Given the description of an element on the screen output the (x, y) to click on. 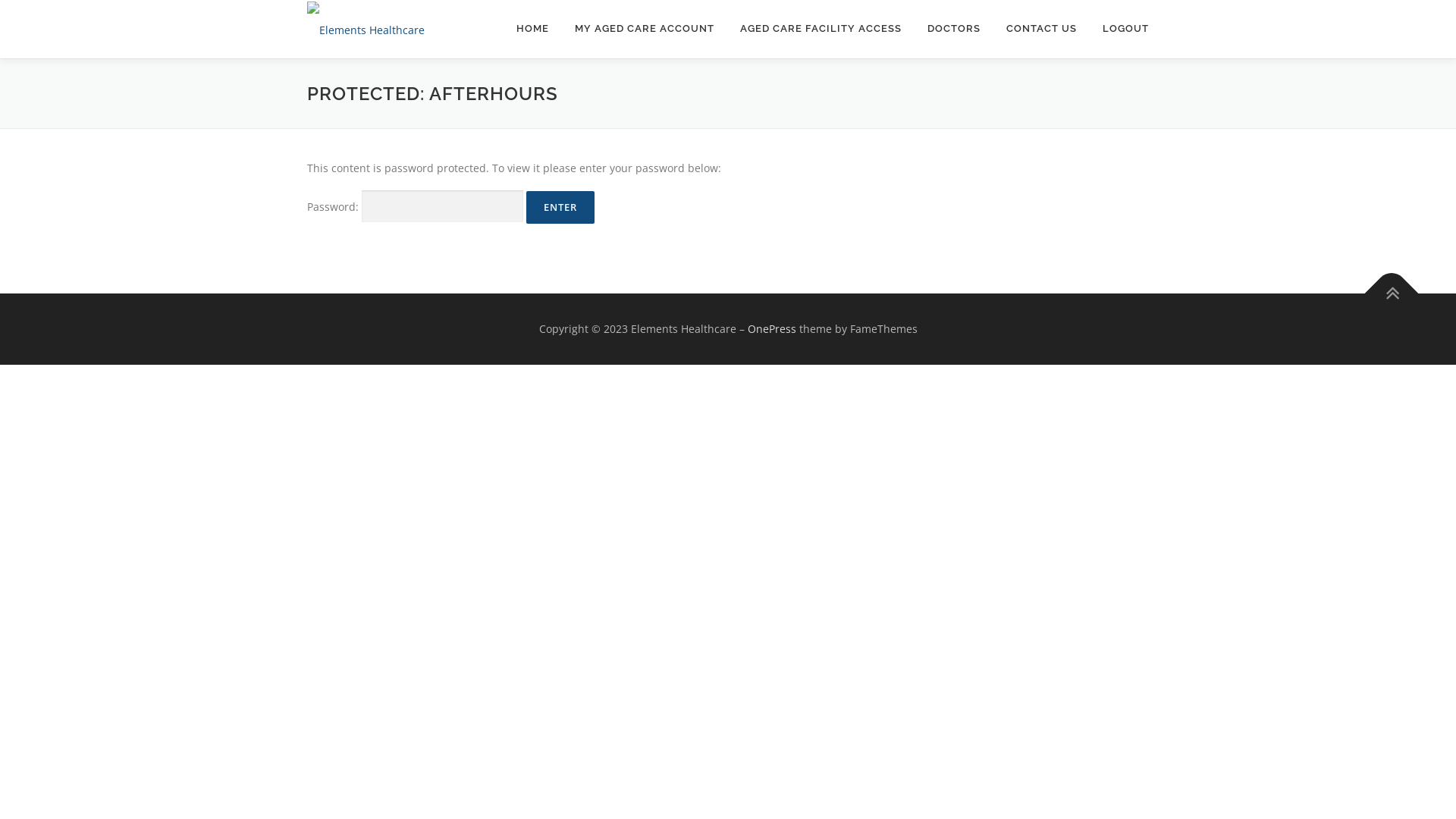
OnePress Element type: text (771, 328)
DOCTORS Element type: text (953, 28)
HOME Element type: text (532, 28)
Back To Top Element type: hover (1383, 285)
CONTACT US Element type: text (1041, 28)
LOGOUT Element type: text (1118, 28)
Enter Element type: text (560, 207)
MY AGED CARE ACCOUNT Element type: text (644, 28)
AGED CARE FACILITY ACCESS Element type: text (820, 28)
